Given the description of an element on the screen output the (x, y) to click on. 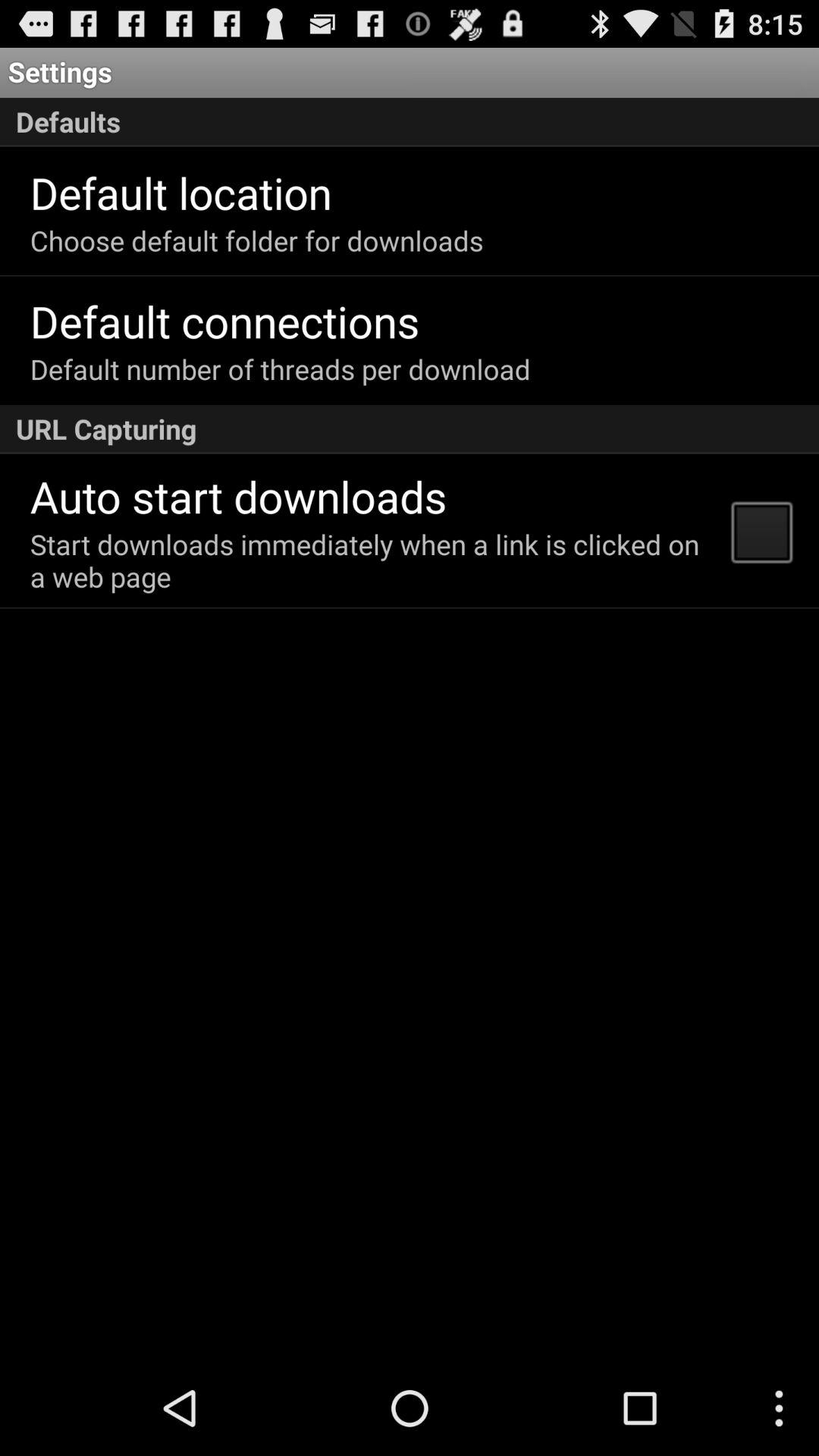
scroll to default connections item (224, 320)
